Given the description of an element on the screen output the (x, y) to click on. 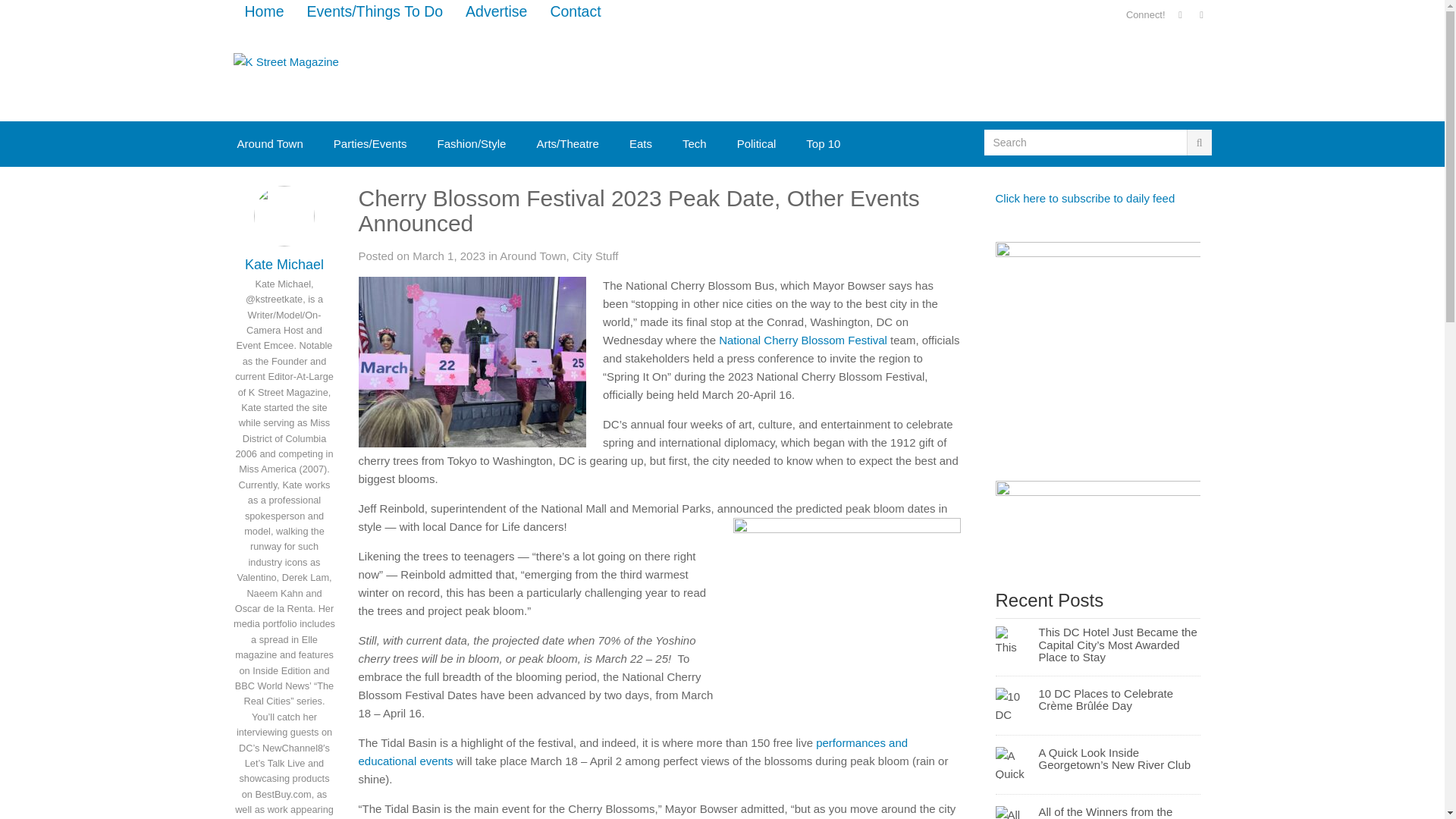
Advertise (496, 11)
Tech (694, 144)
performances and educational events (632, 751)
Contact (574, 11)
Eats (640, 144)
Around Town (269, 144)
Political (757, 144)
National Cherry Blossom Festival (802, 339)
City Stuff (595, 255)
Kate Michael (283, 264)
Around Town (532, 255)
Click here to subscribe to daily feed (1084, 197)
Twitter (1201, 14)
Top 10 (823, 144)
Facebook (1180, 14)
